Given the description of an element on the screen output the (x, y) to click on. 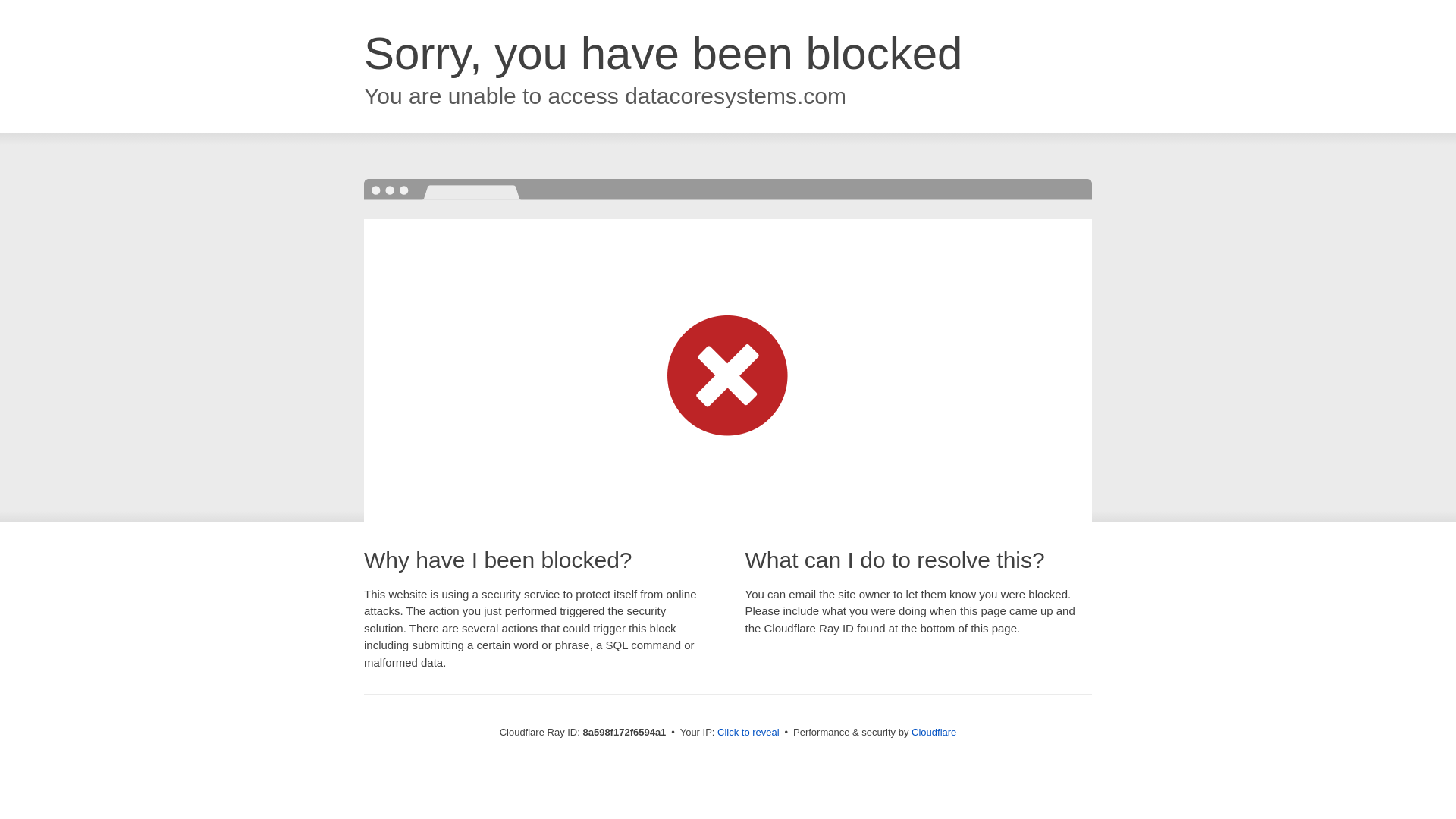
Click to reveal (747, 732)
Cloudflare (933, 731)
